Given the description of an element on the screen output the (x, y) to click on. 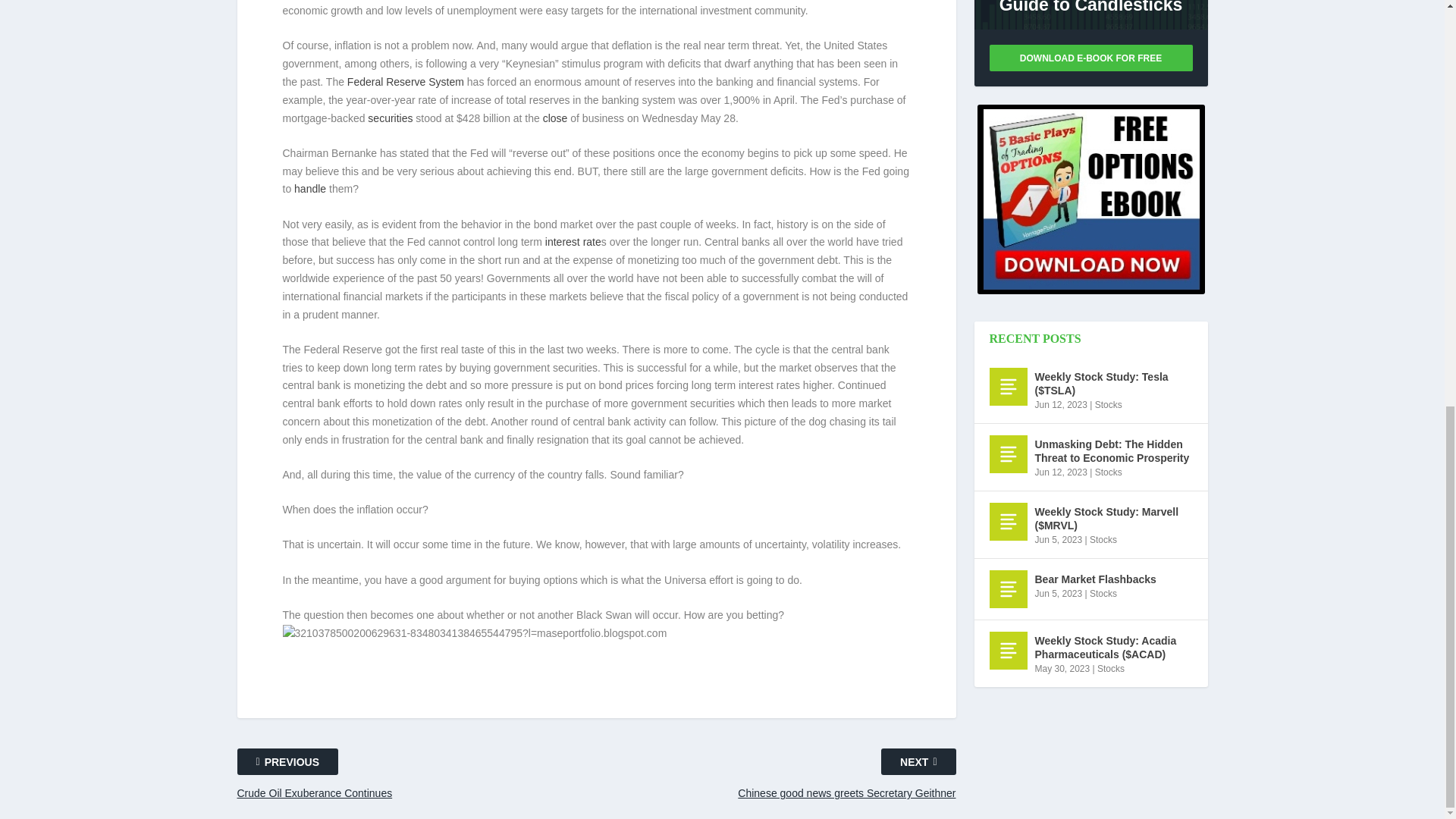
securities (390, 118)
Stocks (1108, 404)
interest rate (572, 241)
Federal Reserve System (405, 81)
handle (310, 188)
close (555, 118)
DOWNLOAD E-BOOK FOR FREE (1090, 58)
